Given the description of an element on the screen output the (x, y) to click on. 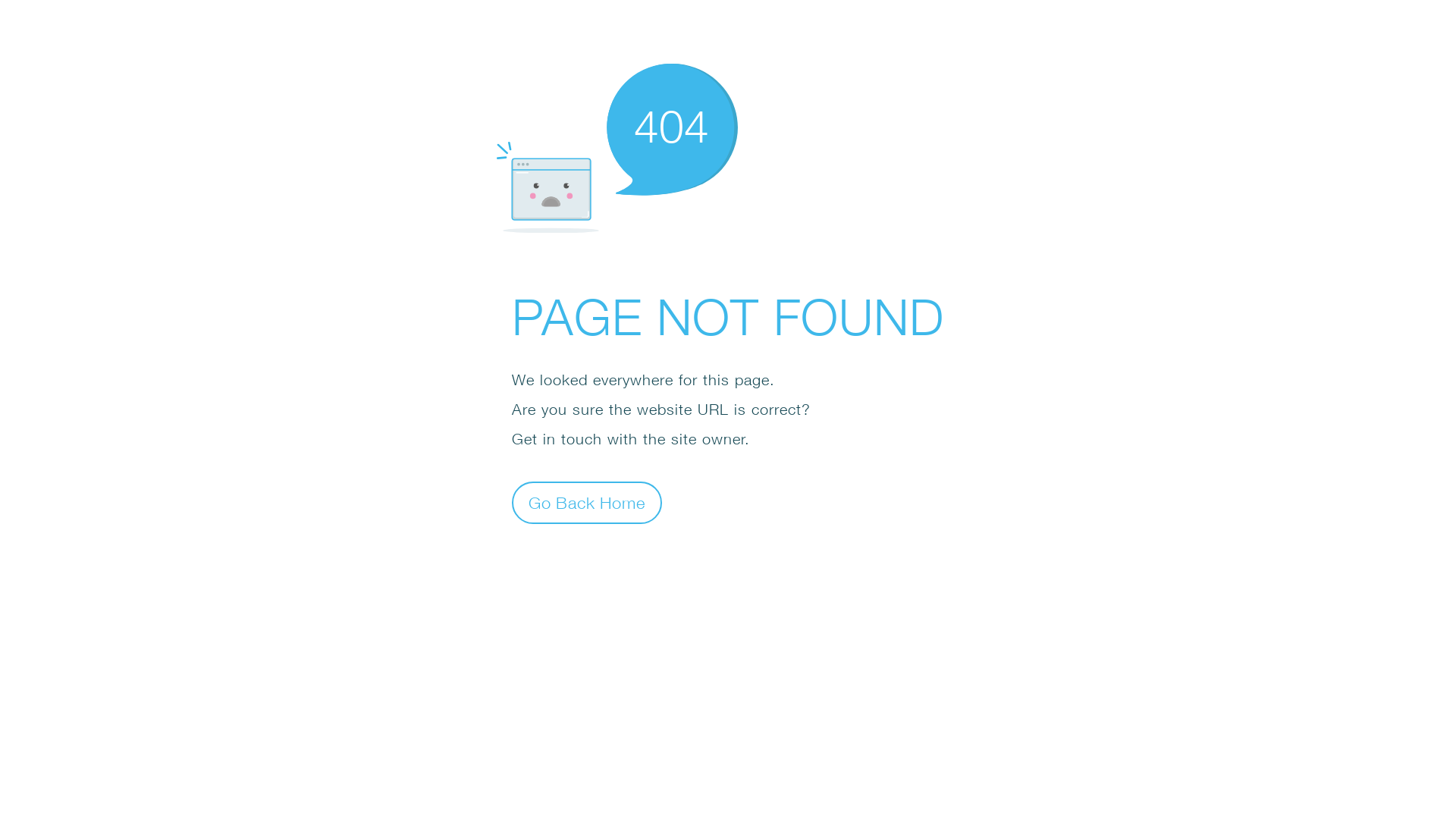
Go Back Home Element type: text (586, 502)
